Given the description of an element on the screen output the (x, y) to click on. 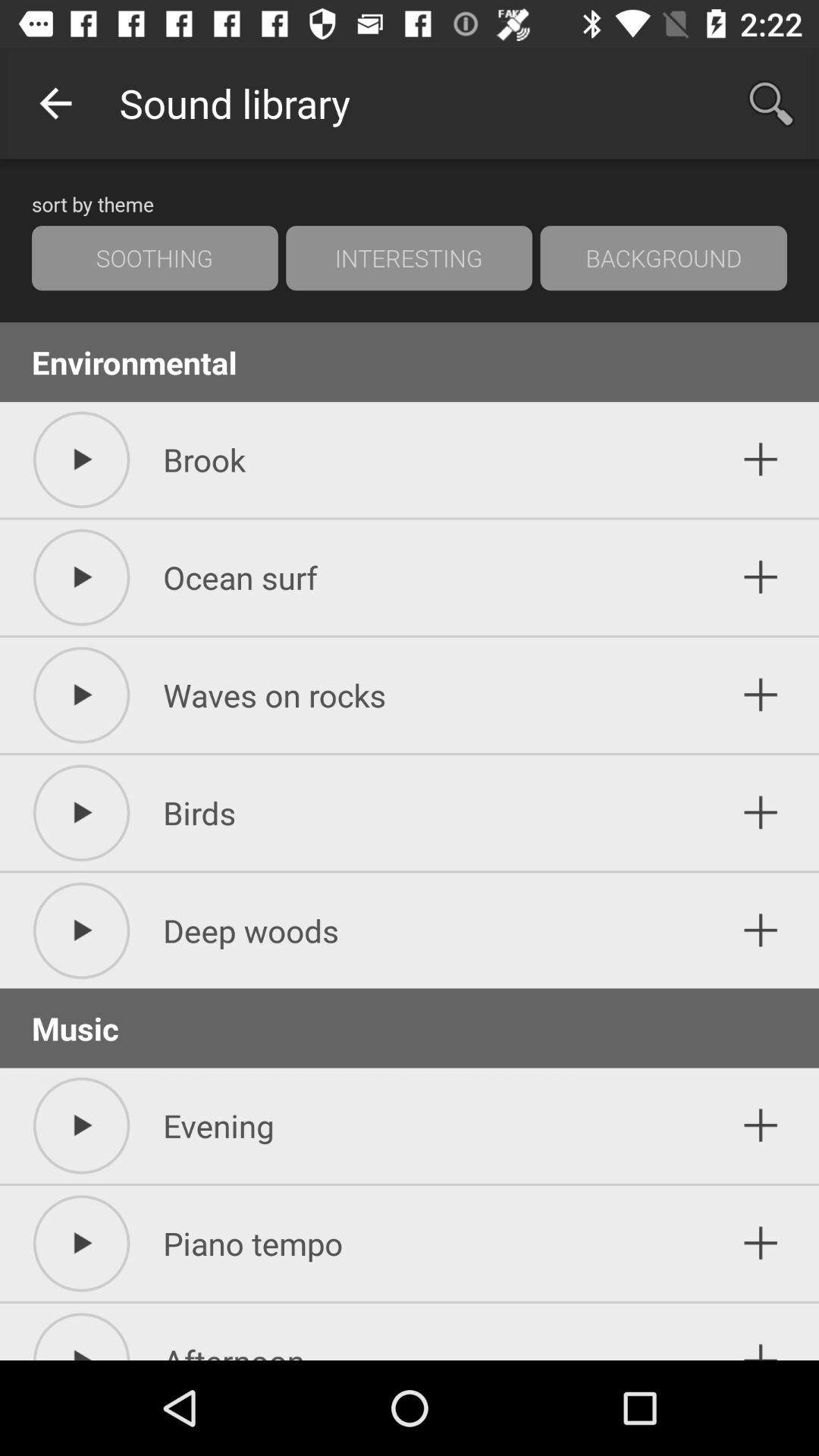
launch item to the right of interesting (663, 257)
